Given the description of an element on the screen output the (x, y) to click on. 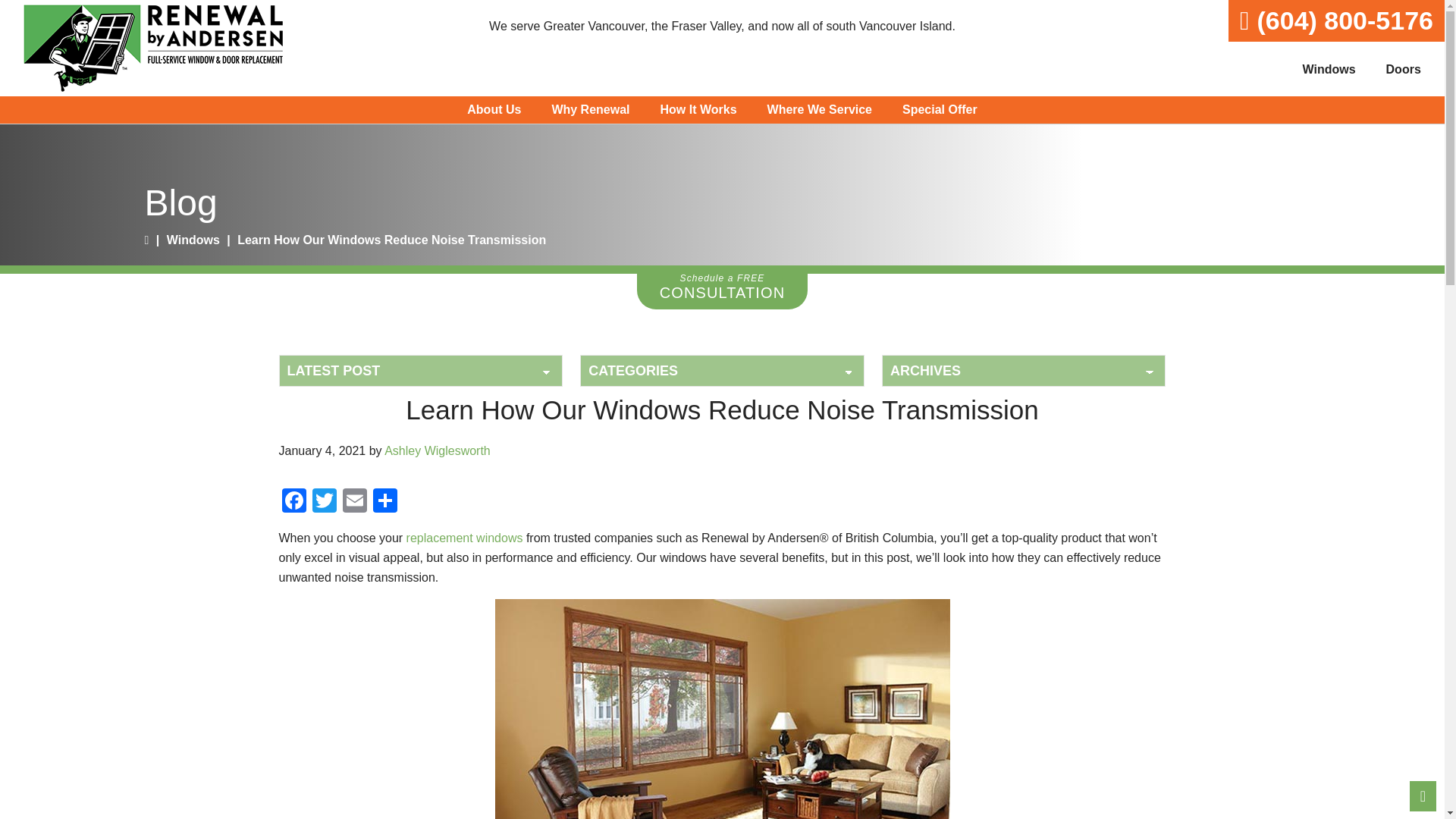
Why Renewal (590, 109)
Email (354, 502)
Facebook (293, 502)
Windows (1328, 69)
LOGO-RbA-final (152, 48)
Twitter (323, 502)
About Us (493, 109)
Doors (1403, 69)
